Given the description of an element on the screen output the (x, y) to click on. 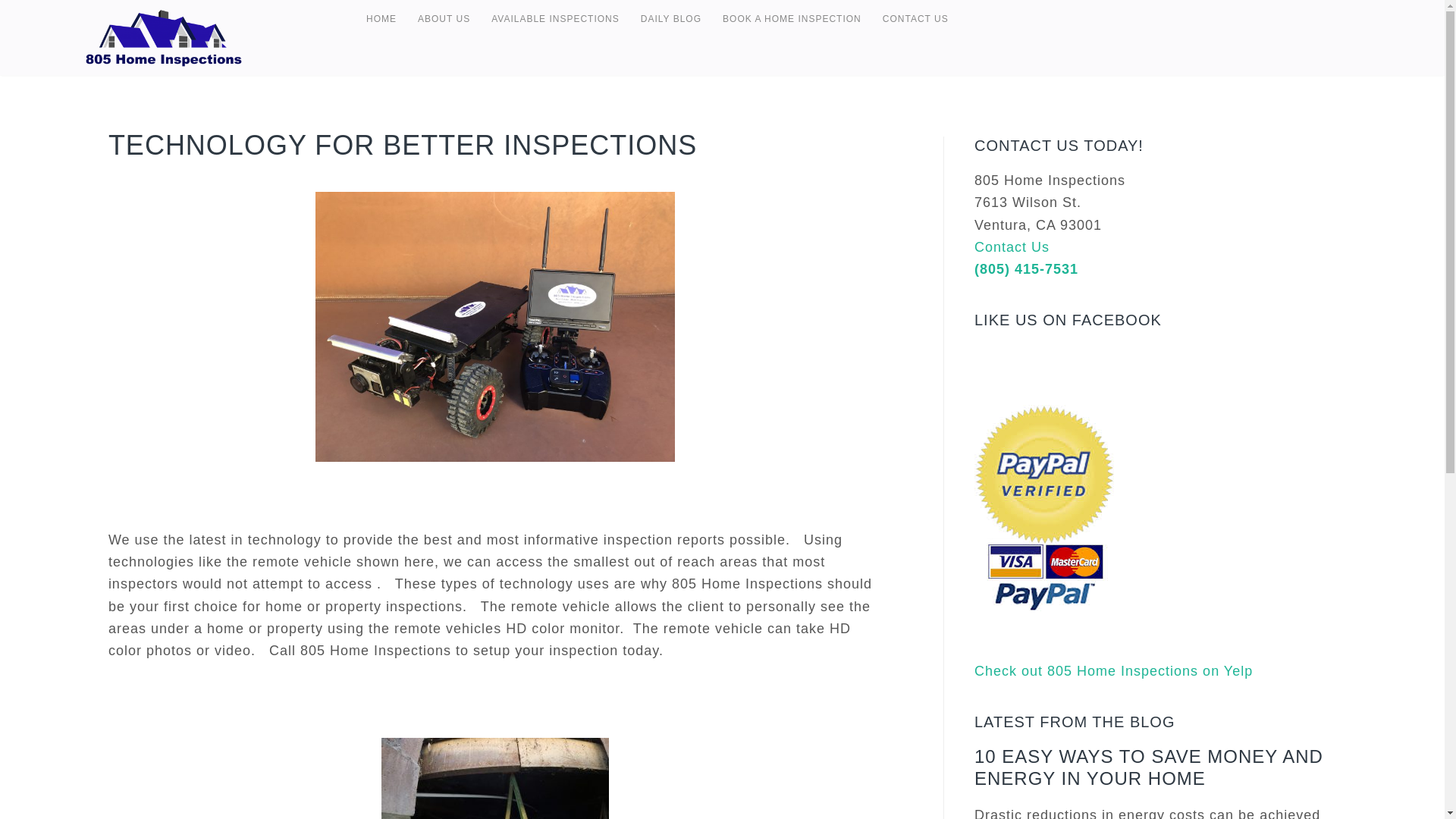
Contact Us (1011, 246)
ABOUT US (443, 18)
DAILY BLOG (671, 18)
HOME (381, 18)
BOOK A HOME INSPECTION (791, 18)
805 HOME INSPECTIONS (221, 37)
CONTACT US (915, 18)
AVAILABLE INSPECTIONS (555, 18)
10 EASY WAYS TO SAVE MONEY AND ENERGY IN YOUR HOME (1148, 767)
Check out 805 Home Inspections on Yelp (1113, 670)
